Given the description of an element on the screen output the (x, y) to click on. 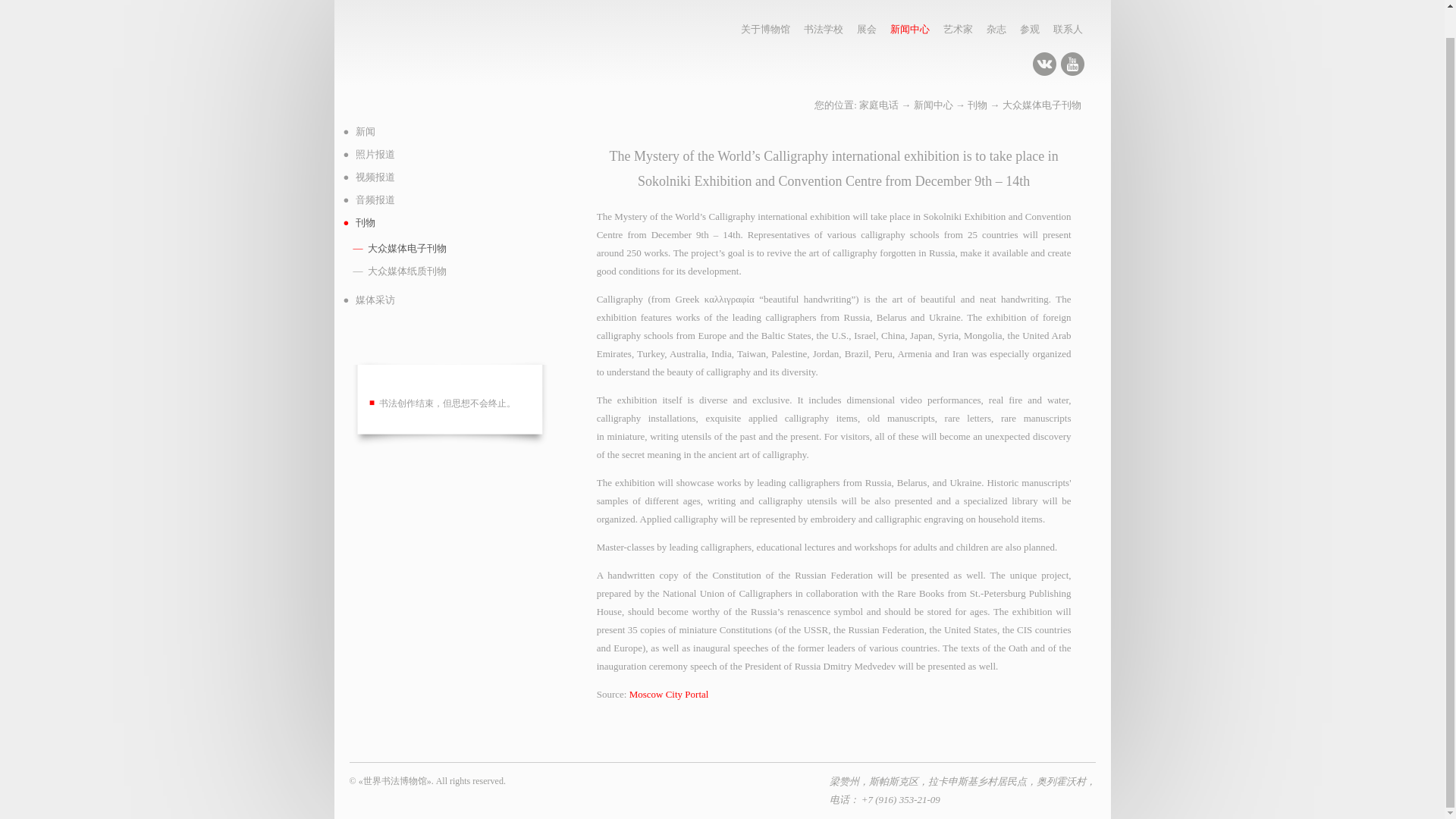
Contemporary Museum of Calligraphy on Youtube (1073, 64)
